Given the description of an element on the screen output the (x, y) to click on. 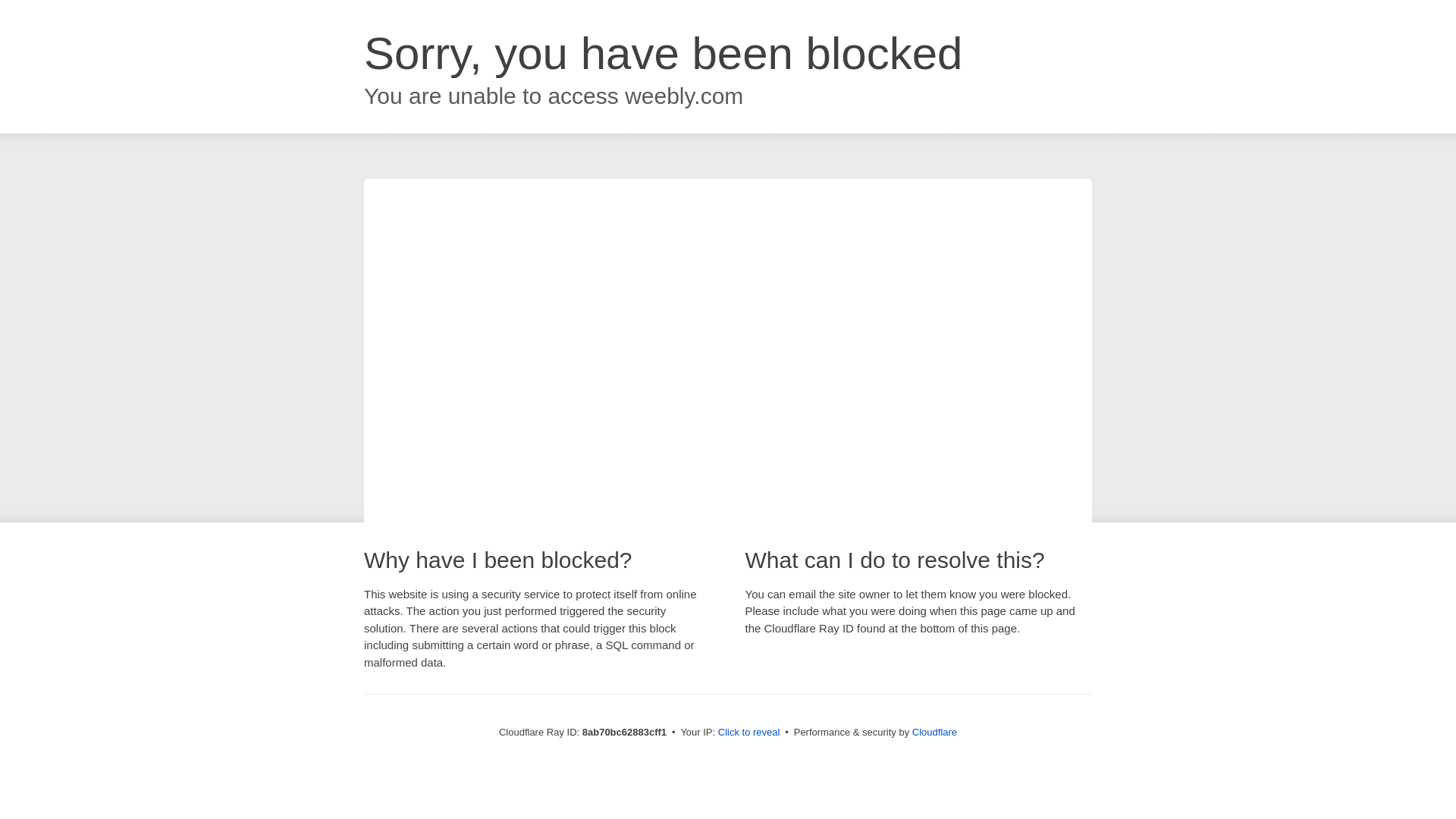
Cloudflare (934, 731)
Click to reveal (748, 732)
